Given the description of an element on the screen output the (x, y) to click on. 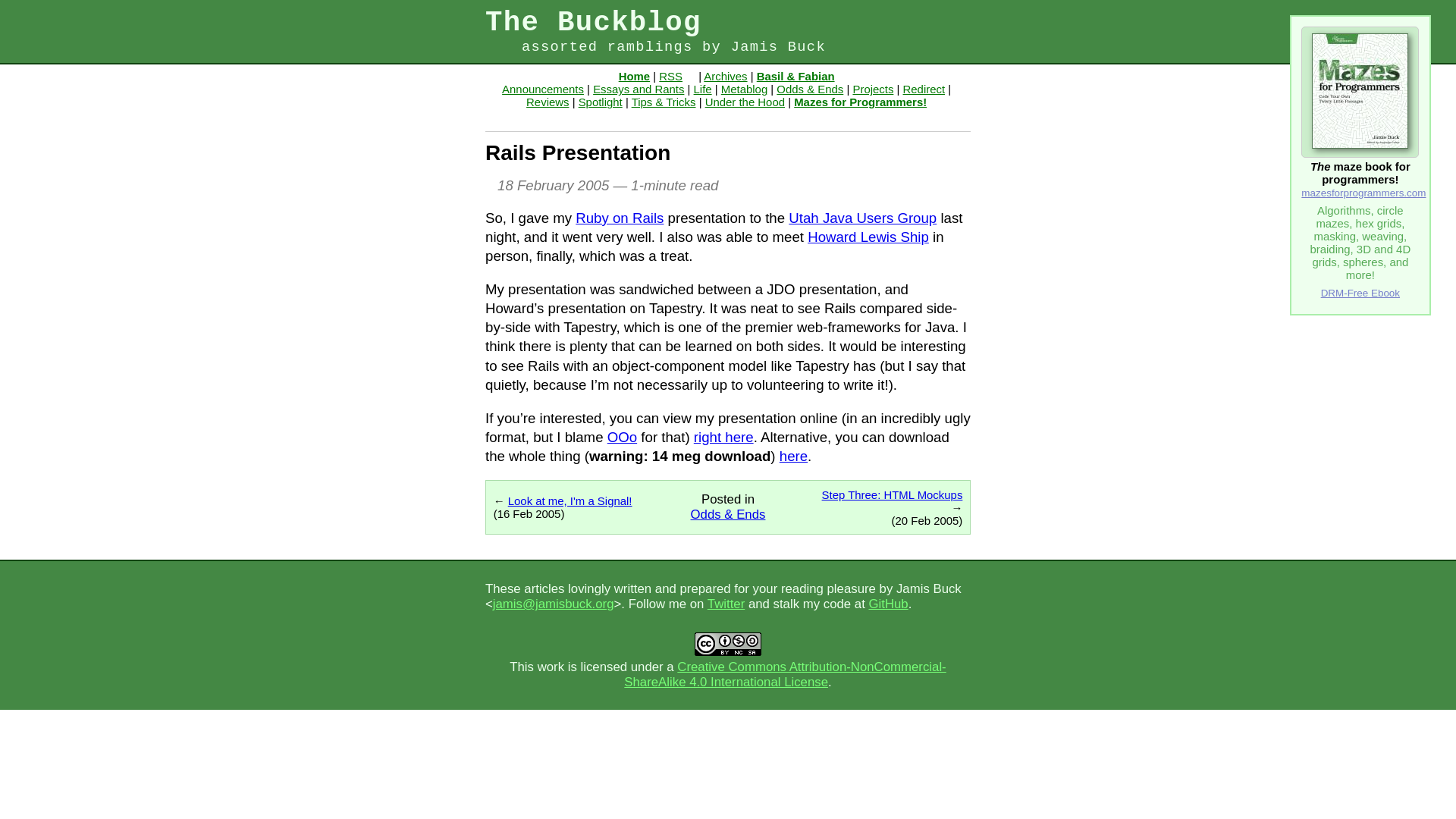
Under the Hood (744, 101)
Essays and Rants (638, 88)
Howard Lewis Ship (868, 236)
Ruby on Rails (619, 217)
Home (633, 75)
here (793, 455)
Look at me, I'm a Signal! (569, 500)
OOo (622, 437)
GitHub (887, 603)
Reviews (547, 101)
